Given the description of an element on the screen output the (x, y) to click on. 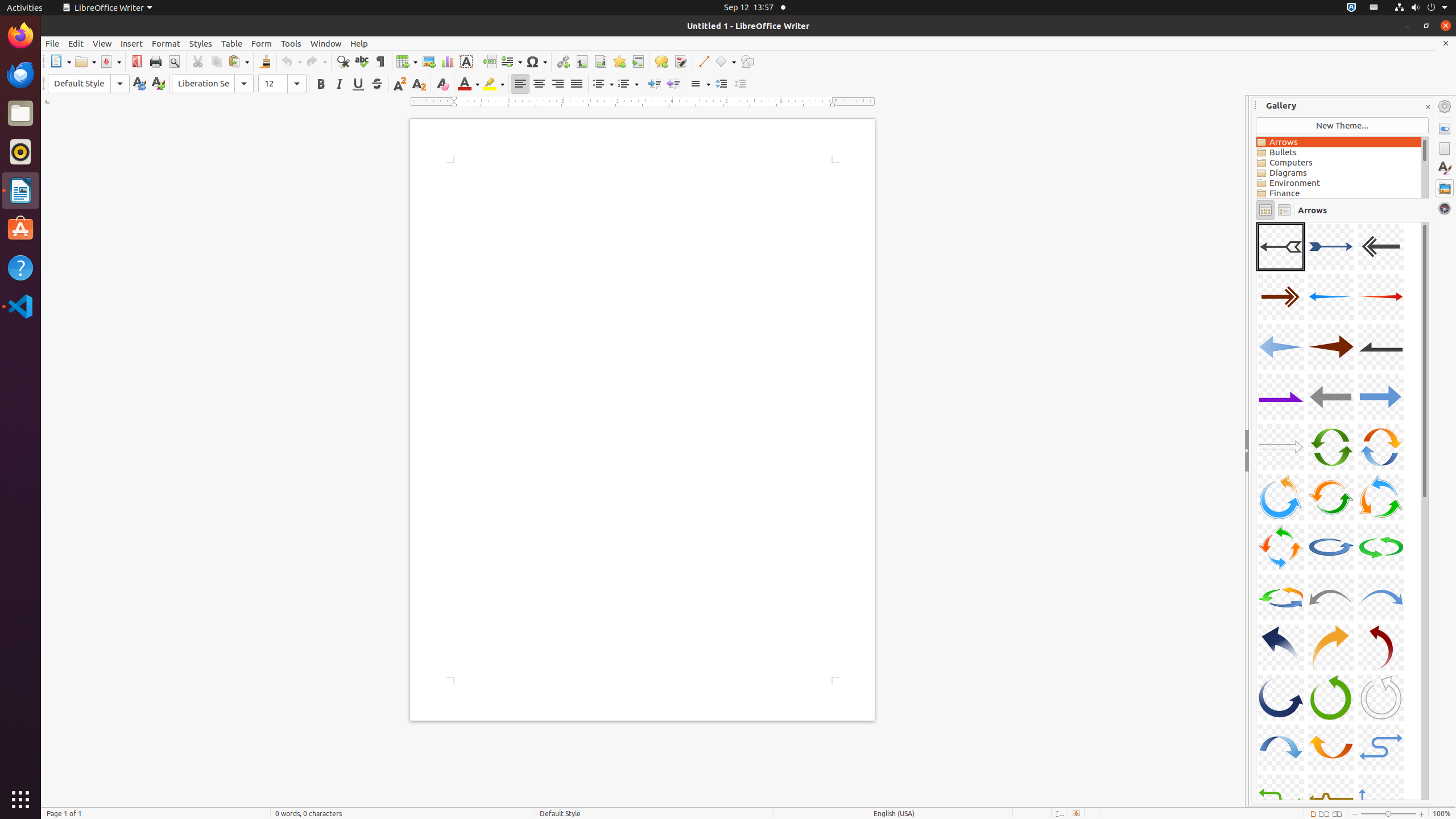
PDF Element type: push-button (136, 61)
Table Element type: push-button (406, 61)
A05-Arrow-Blue-Left Element type: list-item (1330, 296)
Rhythmbox Element type: push-button (20, 151)
Bookmark Element type: push-button (618, 61)
